Given the description of an element on the screen output the (x, y) to click on. 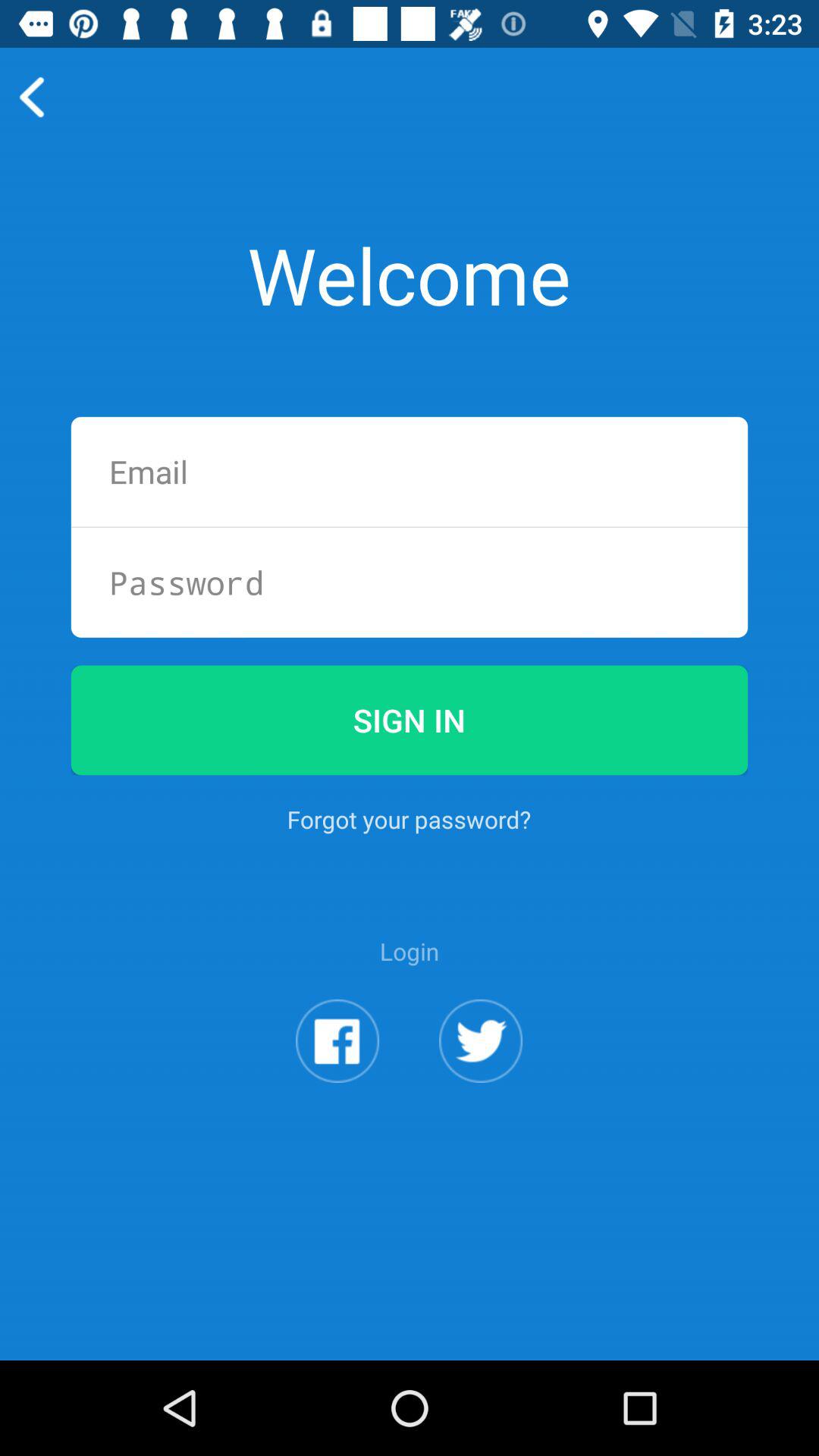
enter your password (409, 582)
